Given the description of an element on the screen output the (x, y) to click on. 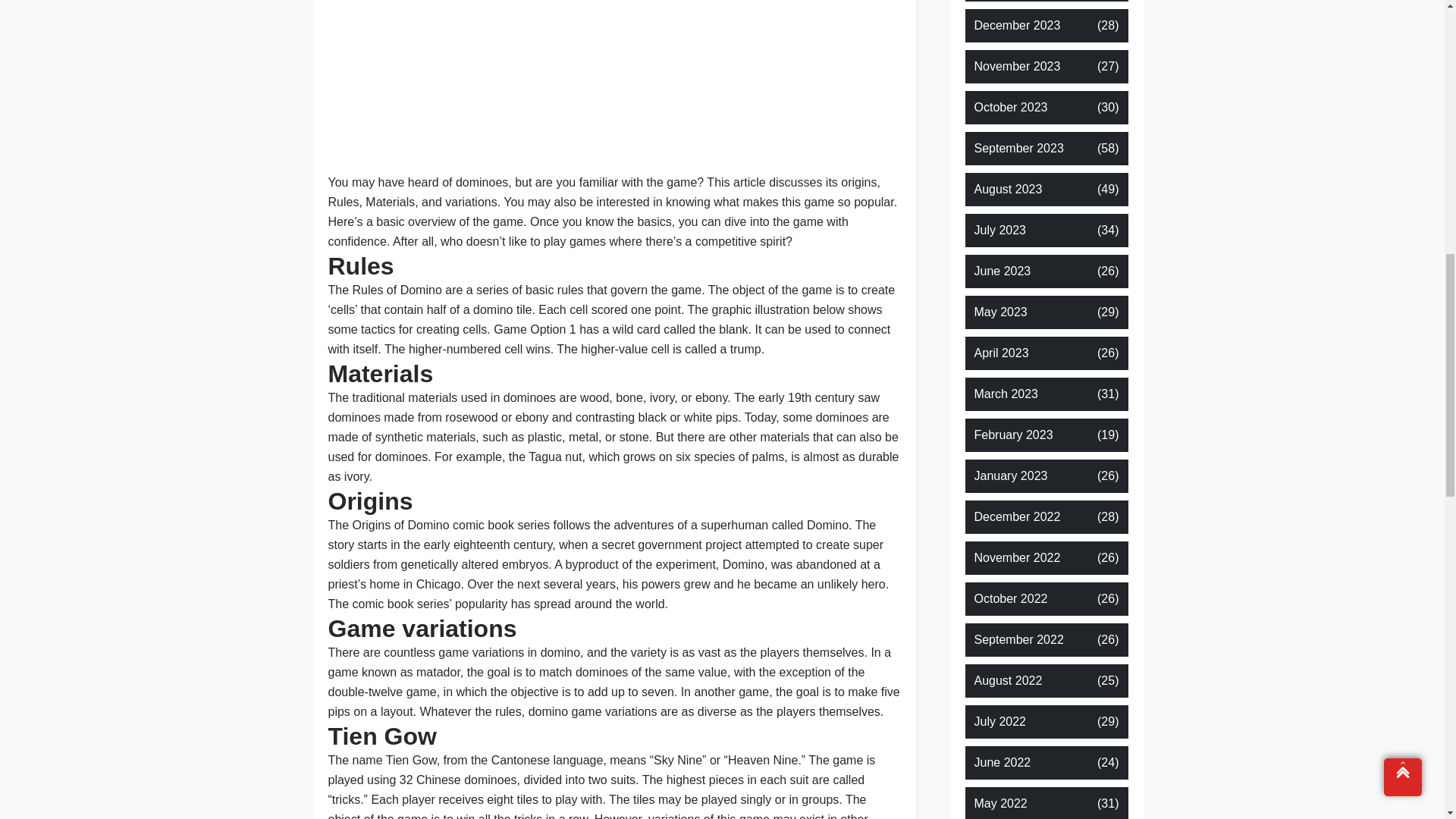
September 2022 (1018, 639)
September 2023 (1018, 148)
March 2023 (1006, 393)
December 2022 (1016, 516)
April 2023 (1000, 352)
August 2023 (1008, 189)
July 2023 (1000, 230)
December 2023 (1016, 25)
October 2022 (1010, 598)
October 2023 (1010, 107)
January 2023 (1010, 475)
June 2022 (1002, 762)
June 2023 (1002, 271)
July 2022 (1000, 721)
August 2022 (1008, 680)
